Given the description of an element on the screen output the (x, y) to click on. 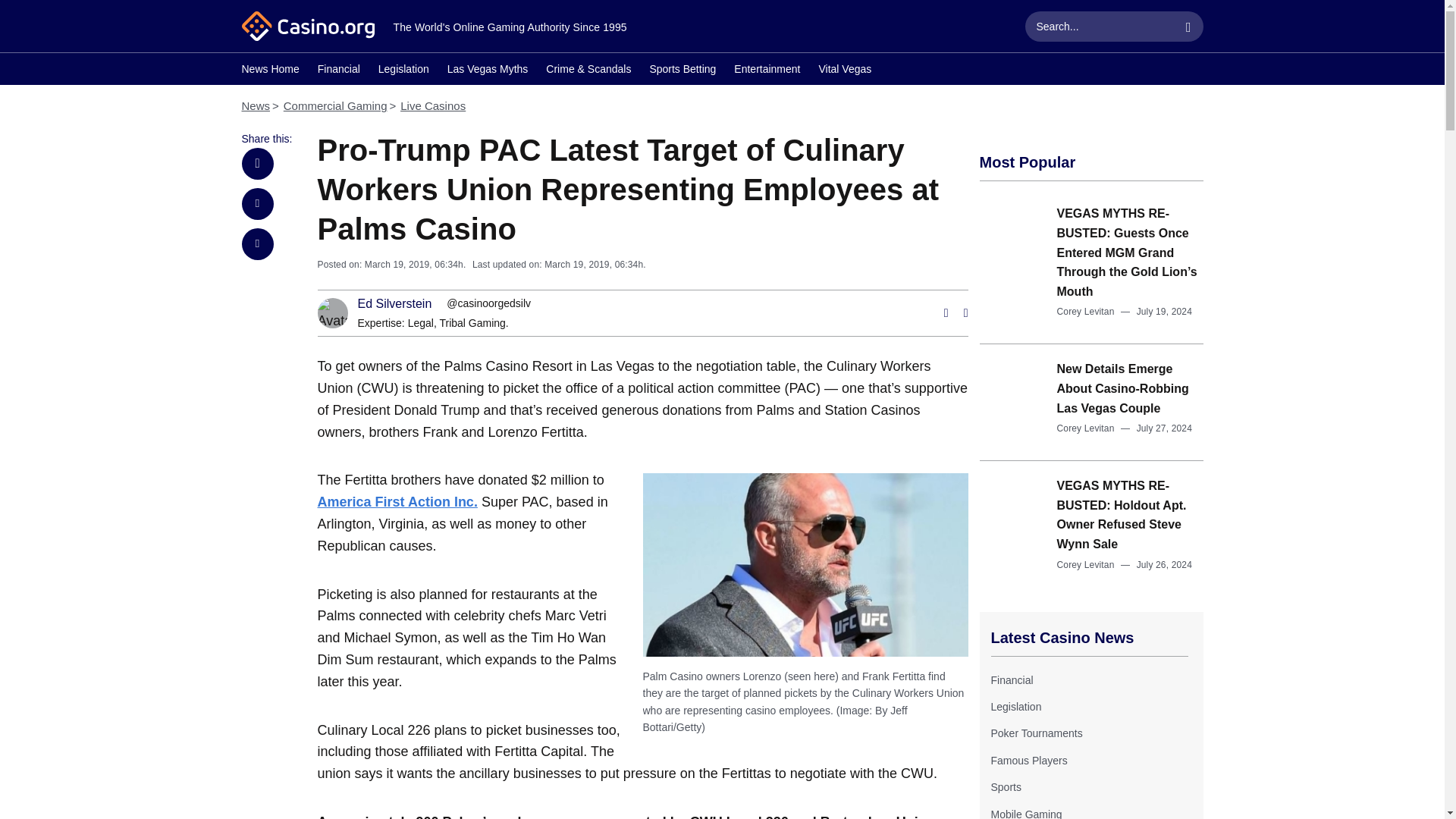
Sports Betting (682, 70)
Poker Tournaments (1035, 733)
America First Action Inc. (397, 501)
Legislation (1015, 706)
Financial (1011, 680)
Las Vegas Myths (487, 70)
Legal (420, 322)
Ed Silverstein (395, 304)
Entertainment (766, 70)
New Details Emerge About Casino-Robbing Las Vegas Couple (1123, 388)
Legislation (403, 70)
Financial (338, 70)
Financial (1011, 680)
Mobile Gaming (1025, 813)
Corey Levitan (1086, 428)
